Given the description of an element on the screen output the (x, y) to click on. 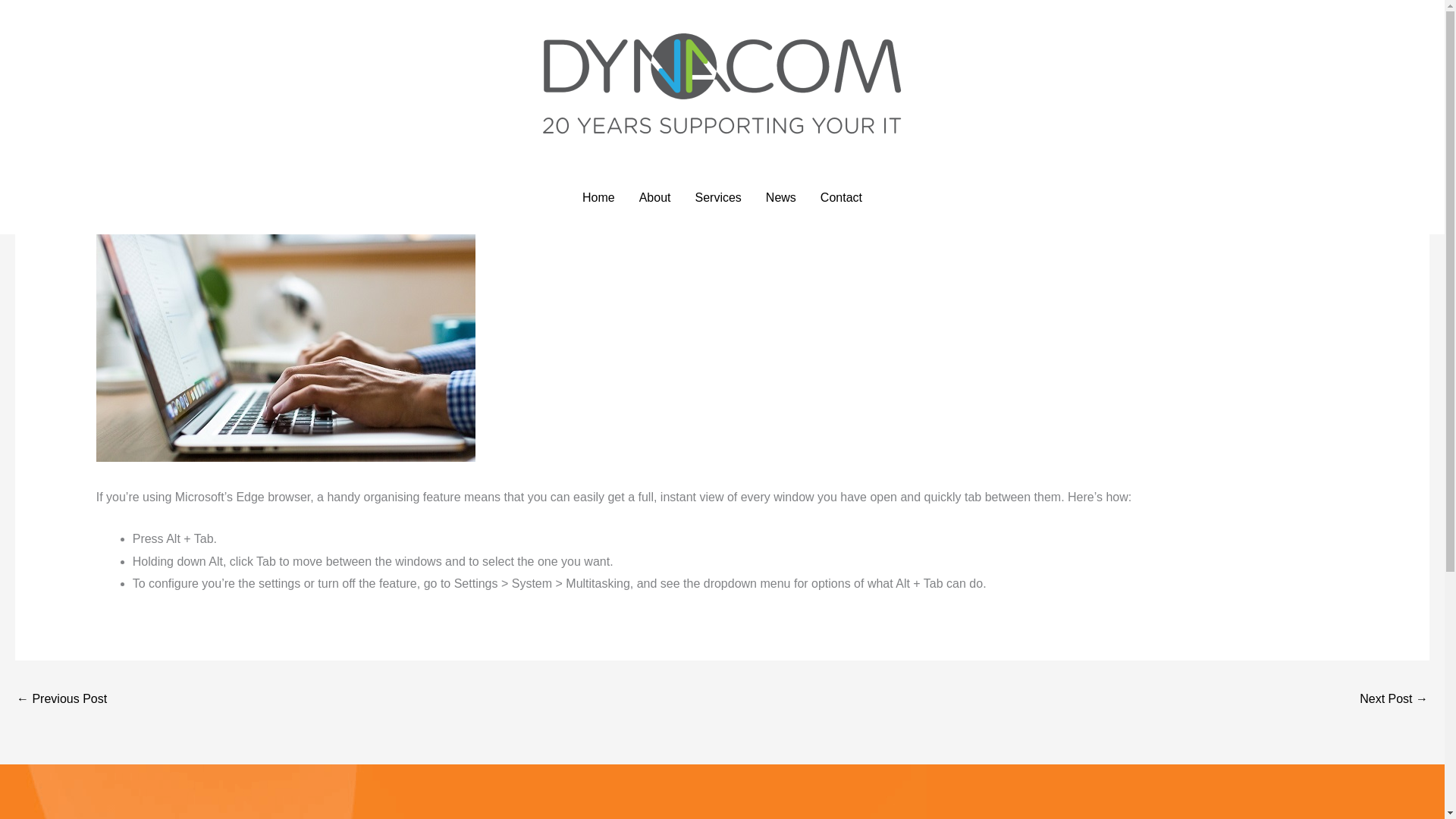
Tech Tip (161, 160)
News (781, 197)
About (654, 197)
Featured Article : Google Killing 3rd Party Cookies (61, 700)
News (118, 160)
Featured Article: Getting The Most From Spotify (1393, 700)
Home (598, 197)
Contact (841, 197)
Services (717, 197)
